Given the description of an element on the screen output the (x, y) to click on. 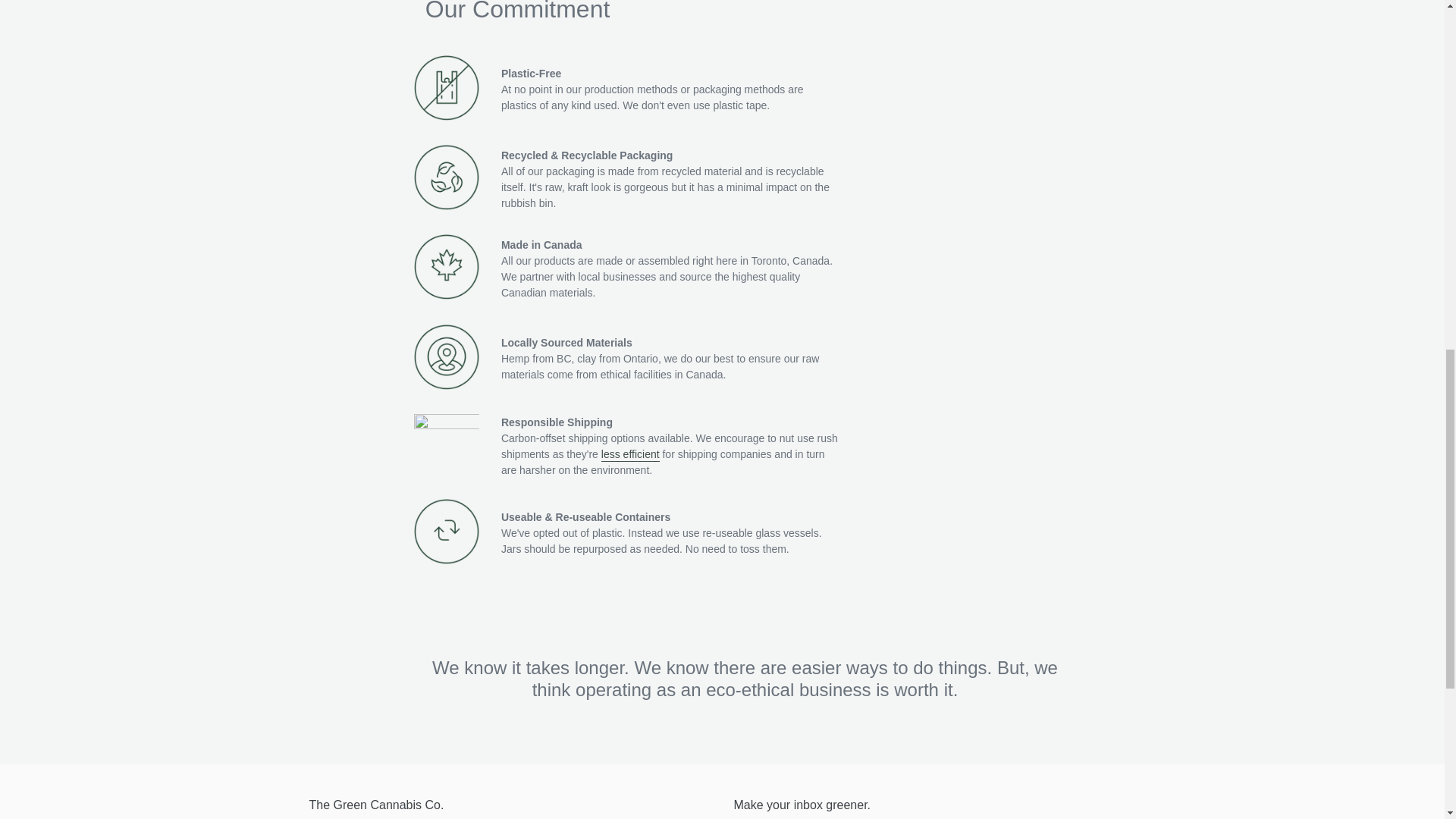
less efficient (630, 454)
